Given the description of an element on the screen output the (x, y) to click on. 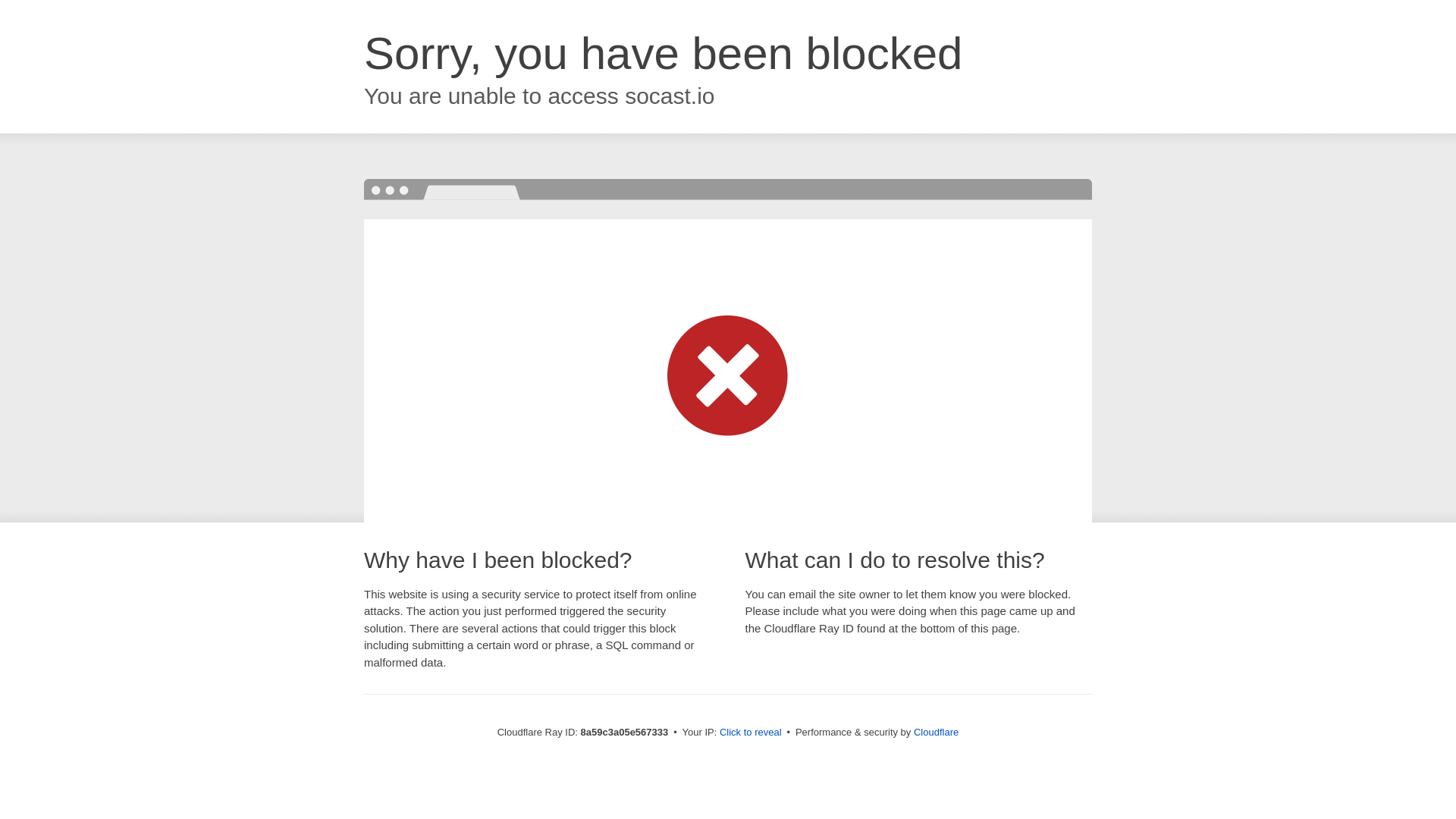
Click to reveal (750, 732)
Cloudflare (936, 731)
